Given the description of an element on the screen output the (x, y) to click on. 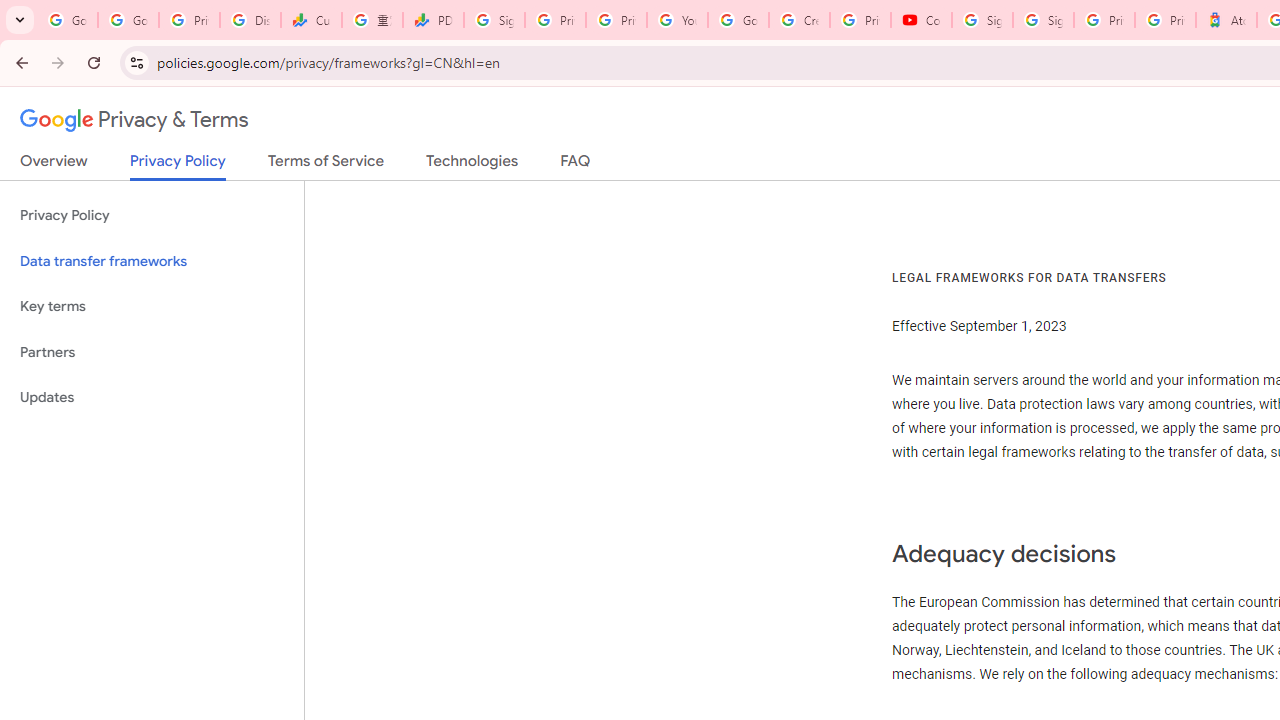
Currencies - Google Finance (310, 20)
Create your Google Account (799, 20)
YouTube (676, 20)
